Given the description of an element on the screen output the (x, y) to click on. 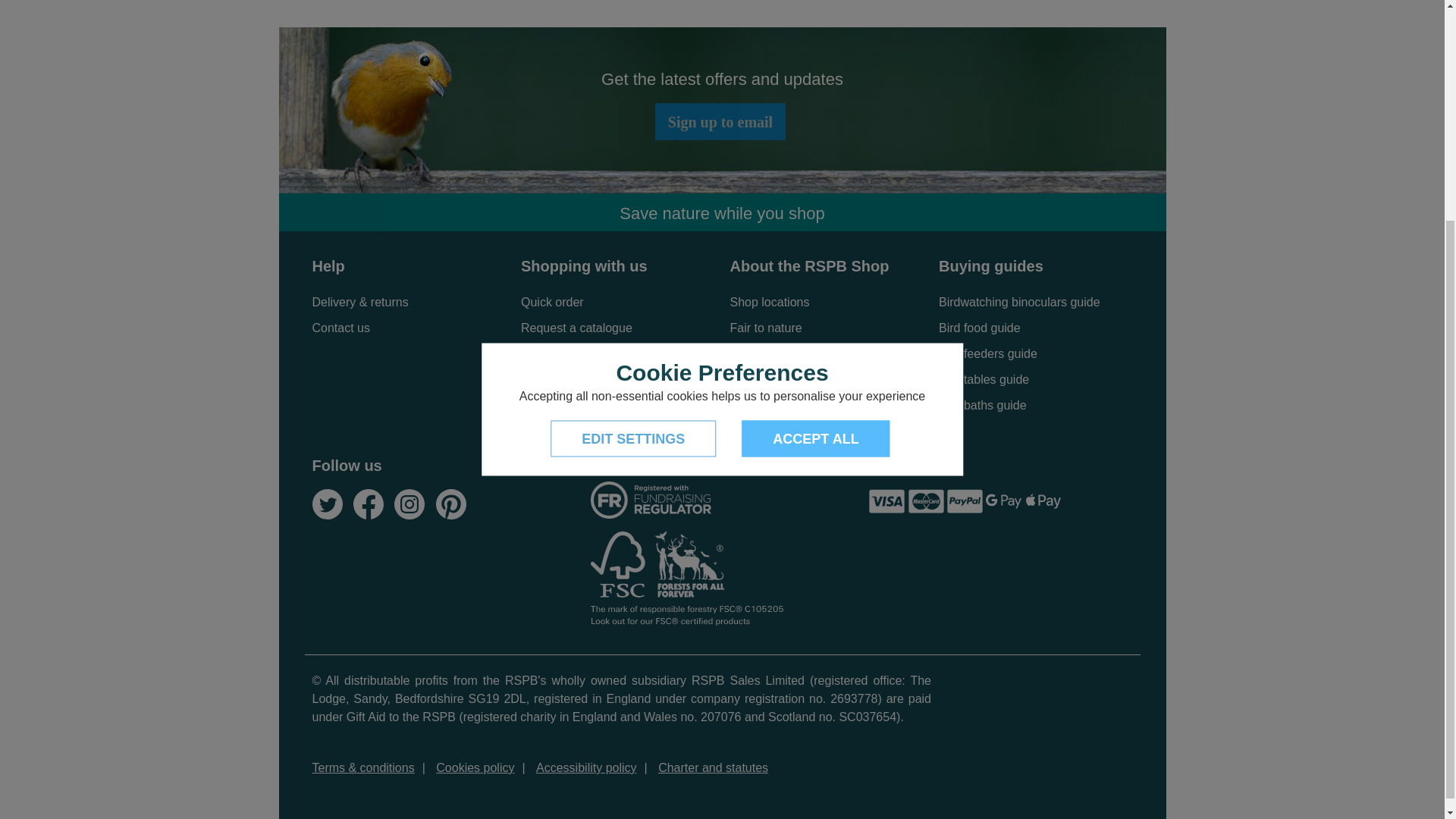
Request a catalogue (576, 327)
Quick order (552, 301)
Bird baths guide (982, 404)
Bird feeders guide (987, 353)
Sitemap (751, 379)
Birdwatching binoculars guide (1019, 301)
Shop locations (769, 301)
Fair to nature (765, 327)
Bird tables guide (984, 379)
Gift cards (546, 353)
Click here to get the latest news (720, 121)
Charter and statutes (713, 768)
Cookies policy (474, 768)
Bird food guide (979, 327)
Contact us (341, 327)
